Given the description of an element on the screen output the (x, y) to click on. 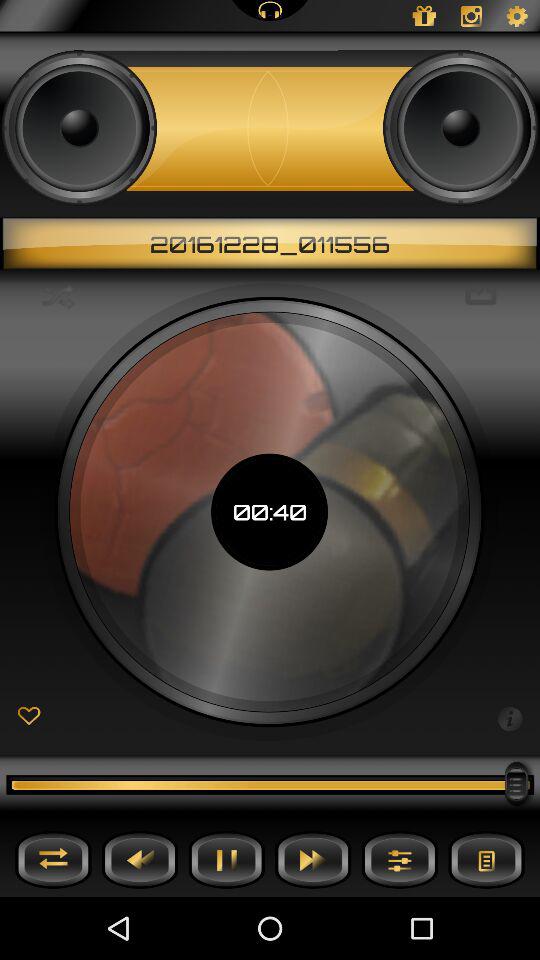
rewind the audio (140, 859)
